Given the description of an element on the screen output the (x, y) to click on. 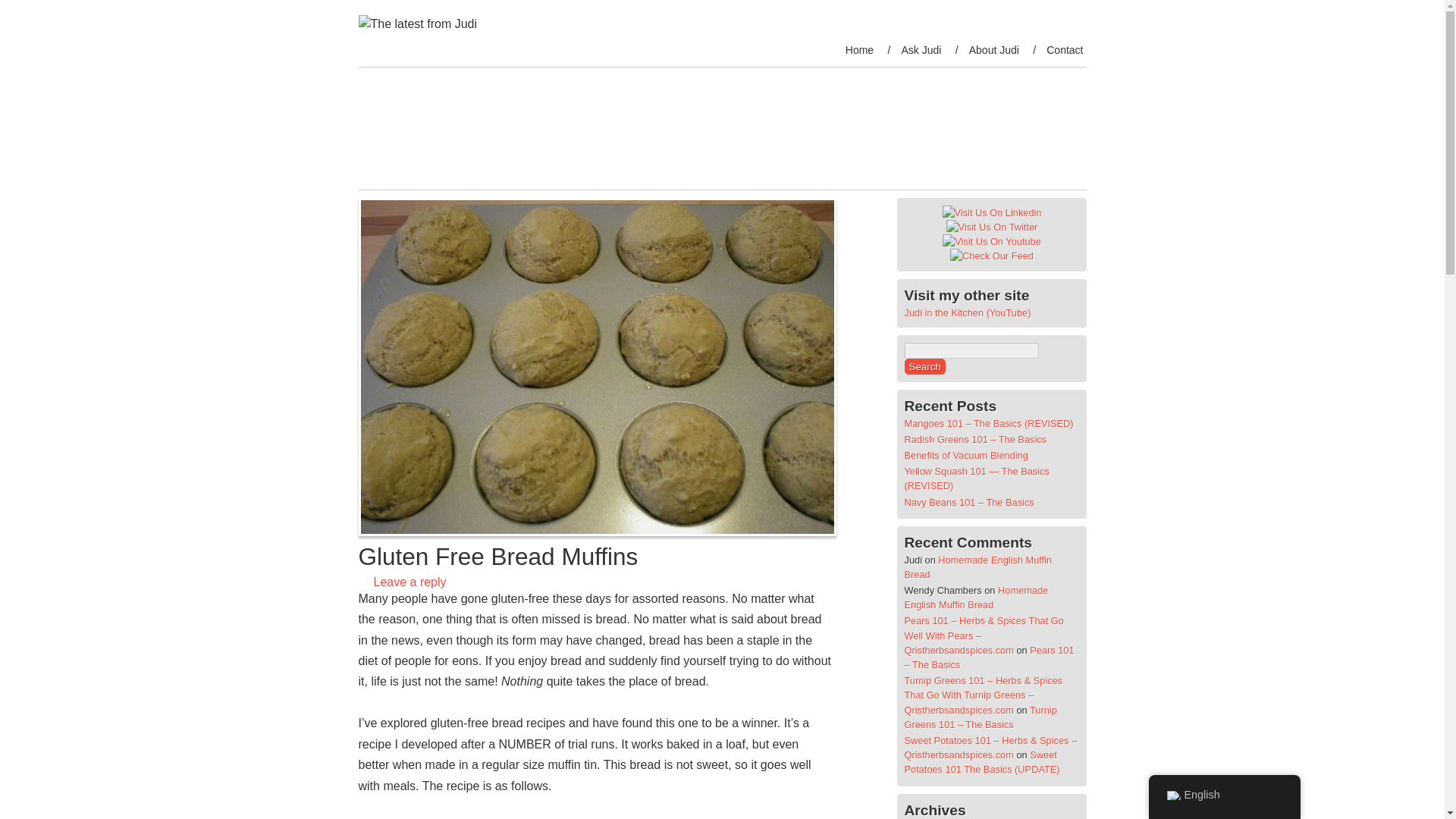
Visit Us On Twitter (991, 226)
About Judi (994, 49)
Leave a reply (408, 581)
Search (924, 366)
The latest from Judi (710, 117)
Check Our Feed (991, 255)
Homemade English Muffin Bread (976, 597)
Visit Us On Youtube (991, 241)
Search (924, 366)
Contact (1064, 49)
